Given the description of an element on the screen output the (x, y) to click on. 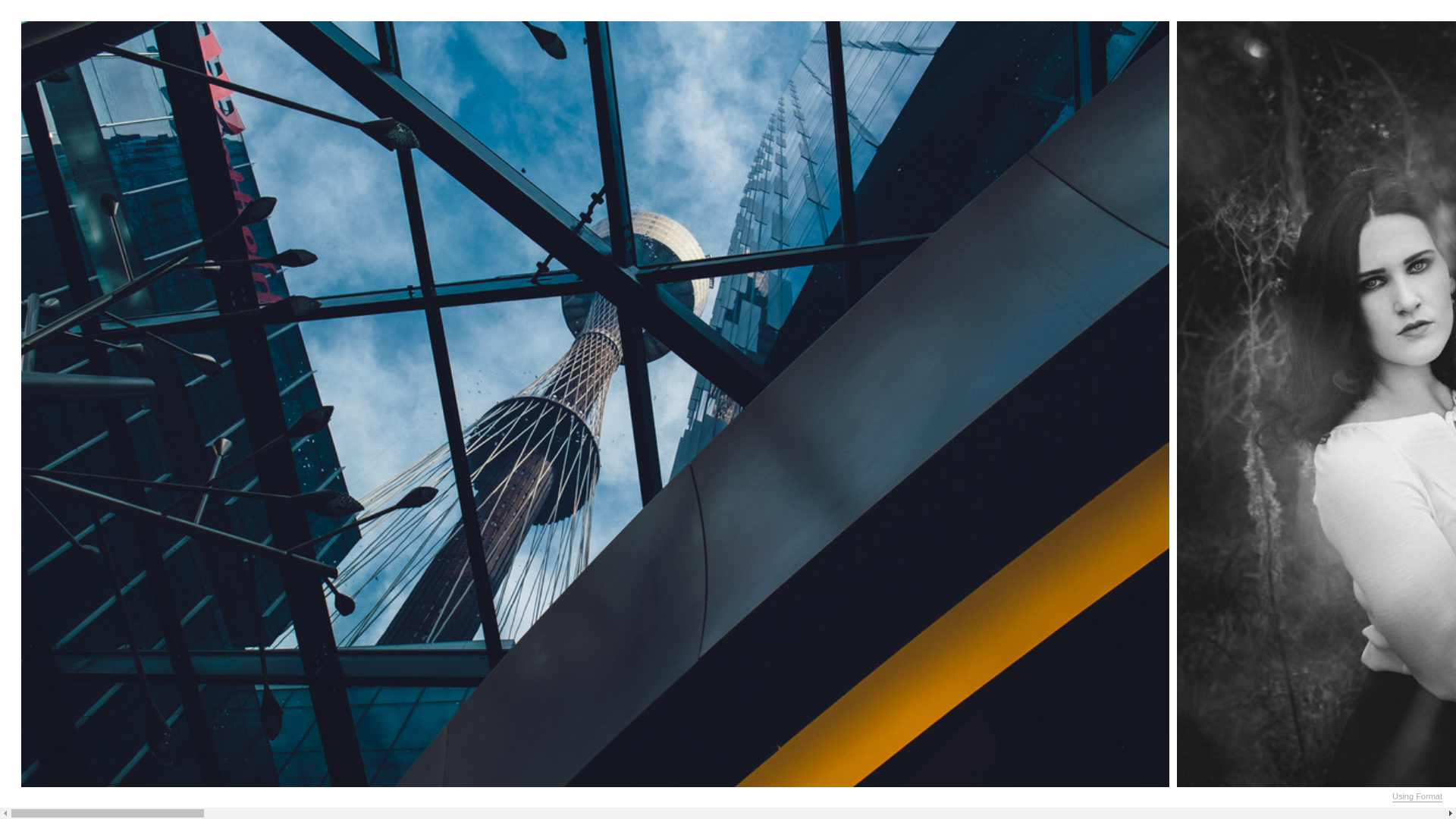
Using Format Element type: text (1417, 796)
